Given the description of an element on the screen output the (x, y) to click on. 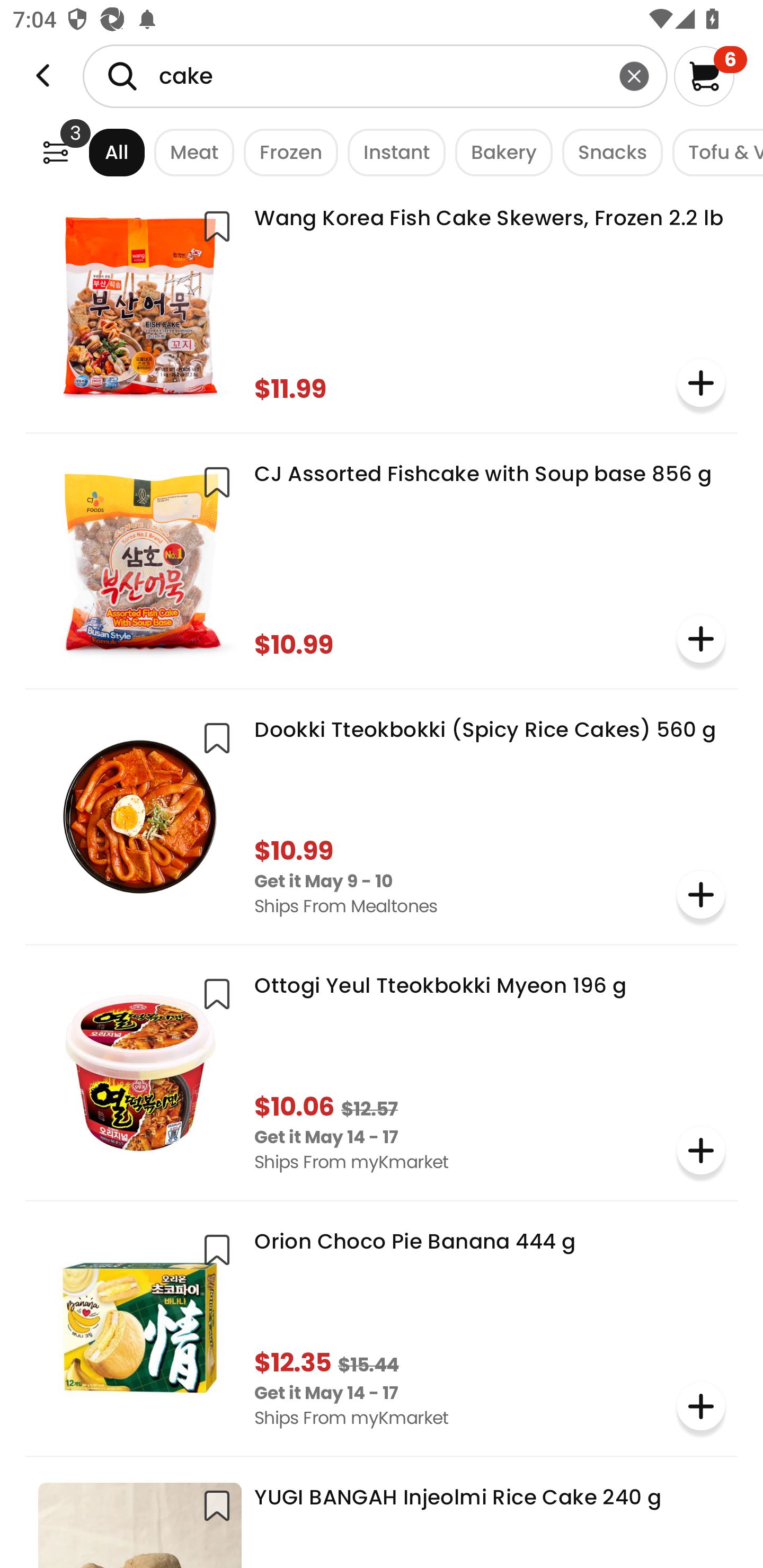
cake (374, 75)
6 (709, 75)
Weee! (42, 76)
Weee! (55, 151)
All (99, 151)
Meat (189, 151)
Frozen (286, 151)
Instant (391, 151)
Bakery (498, 151)
Snacks (607, 151)
Tofu & Vegan (713, 151)
Wang Korea Fish Cake Skewers, Frozen 2.2 lb $11.99 (381, 304)
CJ Assorted Fishcake with Soup base 856 g $10.99 (381, 559)
YUGI BANGAH Injeolmi Rice Cake 240 g (381, 1519)
